Given the description of an element on the screen output the (x, y) to click on. 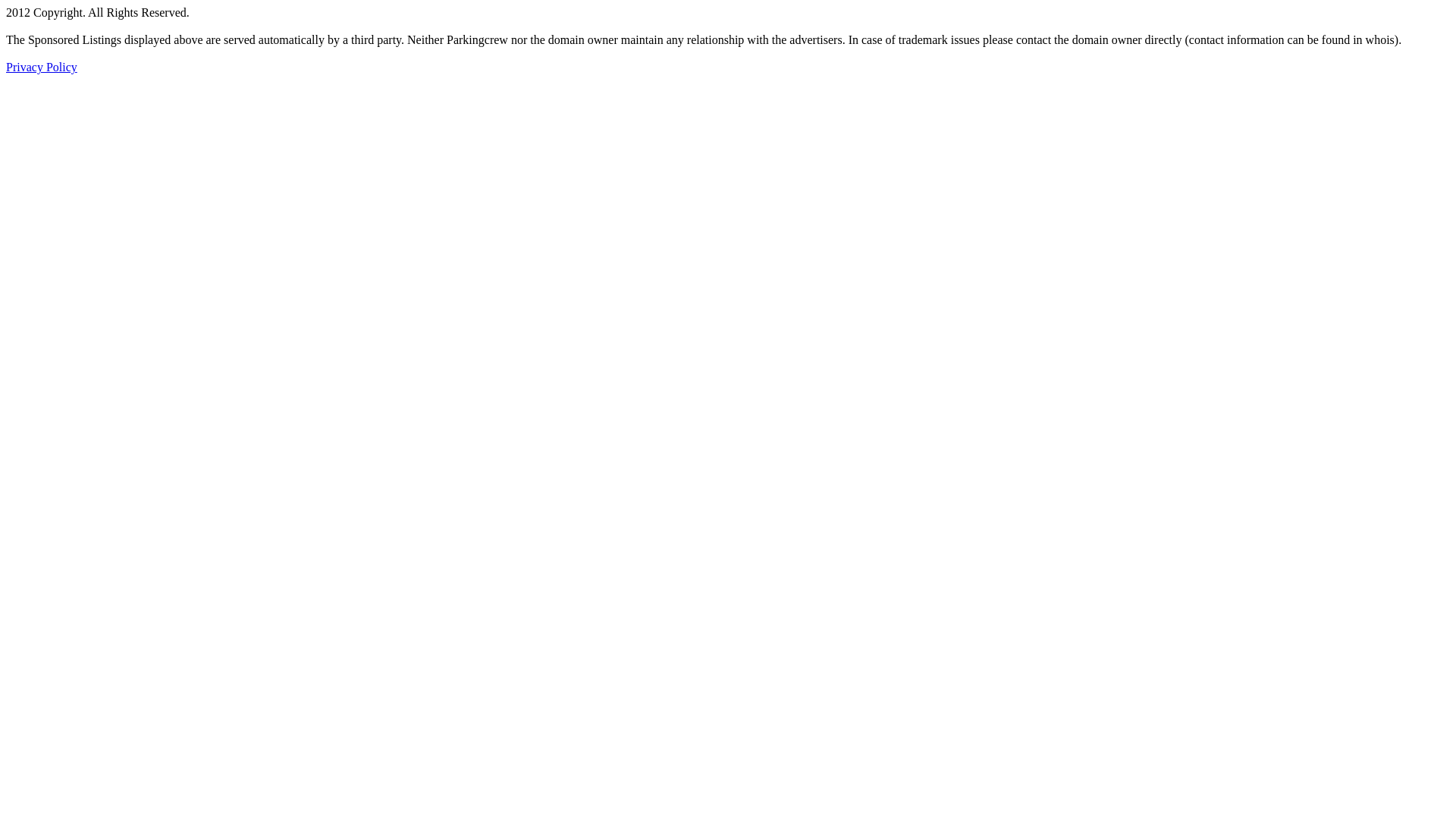
Privacy Policy Element type: text (41, 66)
